Given the description of an element on the screen output the (x, y) to click on. 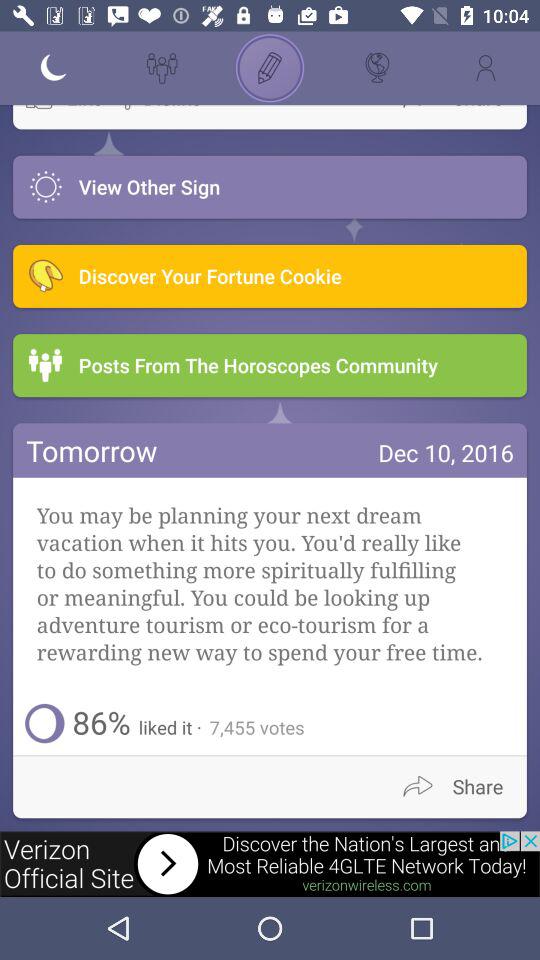
click advertisement (270, 864)
